Given the description of an element on the screen output the (x, y) to click on. 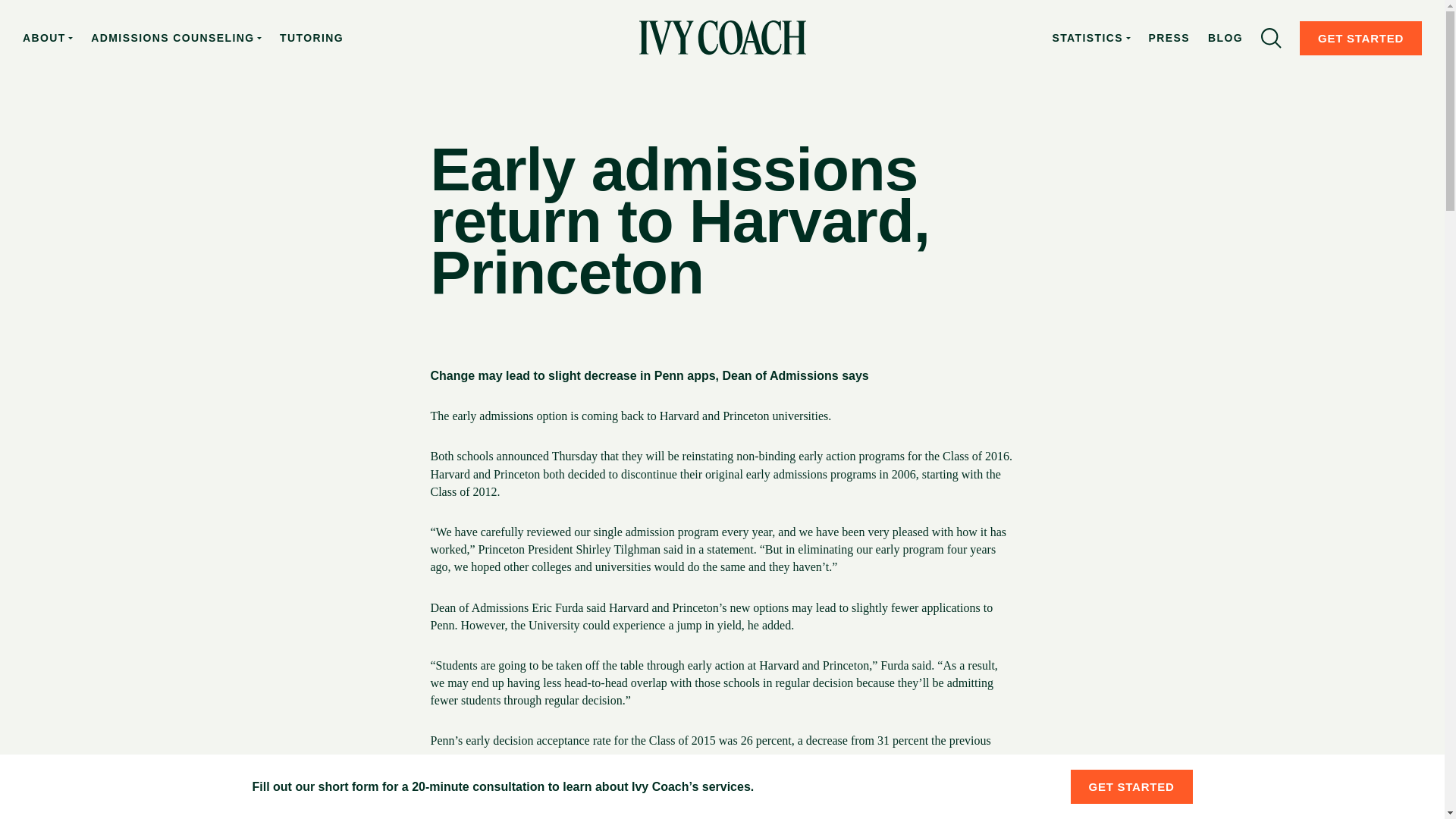
ADMISSIONS COUNSELING (176, 37)
GET STARTED (1131, 786)
BLOG (1225, 37)
ABOUT (47, 37)
STATISTICS (1090, 37)
homepage (722, 37)
GET STARTED (1361, 38)
TUTORING (311, 37)
PRESS (1168, 37)
